Given the description of an element on the screen output the (x, y) to click on. 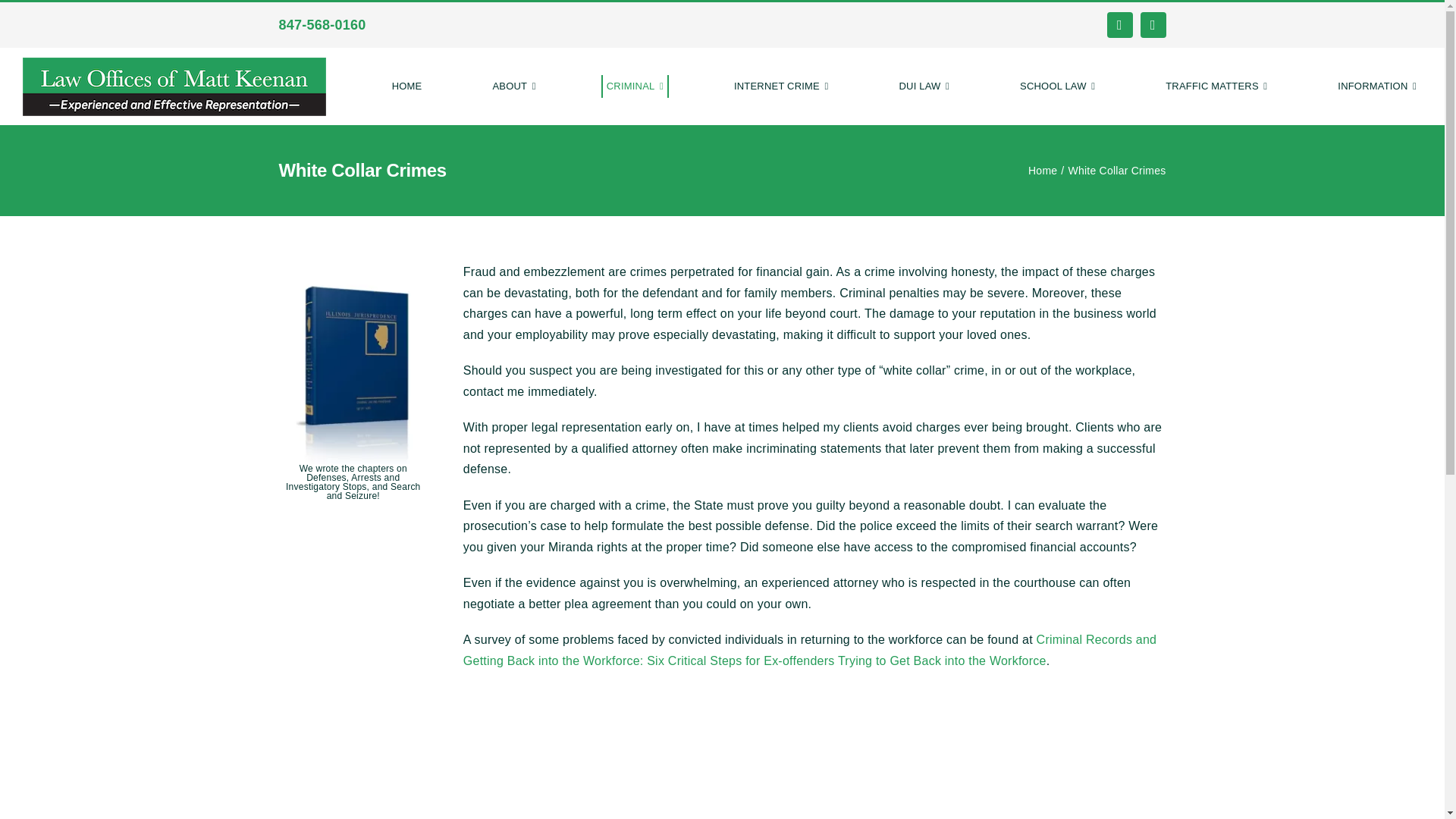
HOME (407, 86)
ABOUT (513, 86)
INTERNET CRIME (780, 86)
CRIMINAL (634, 86)
847-568-0160 (321, 24)
DUI LAW (924, 86)
SCHOOL LAW (1057, 86)
